Given the description of an element on the screen output the (x, y) to click on. 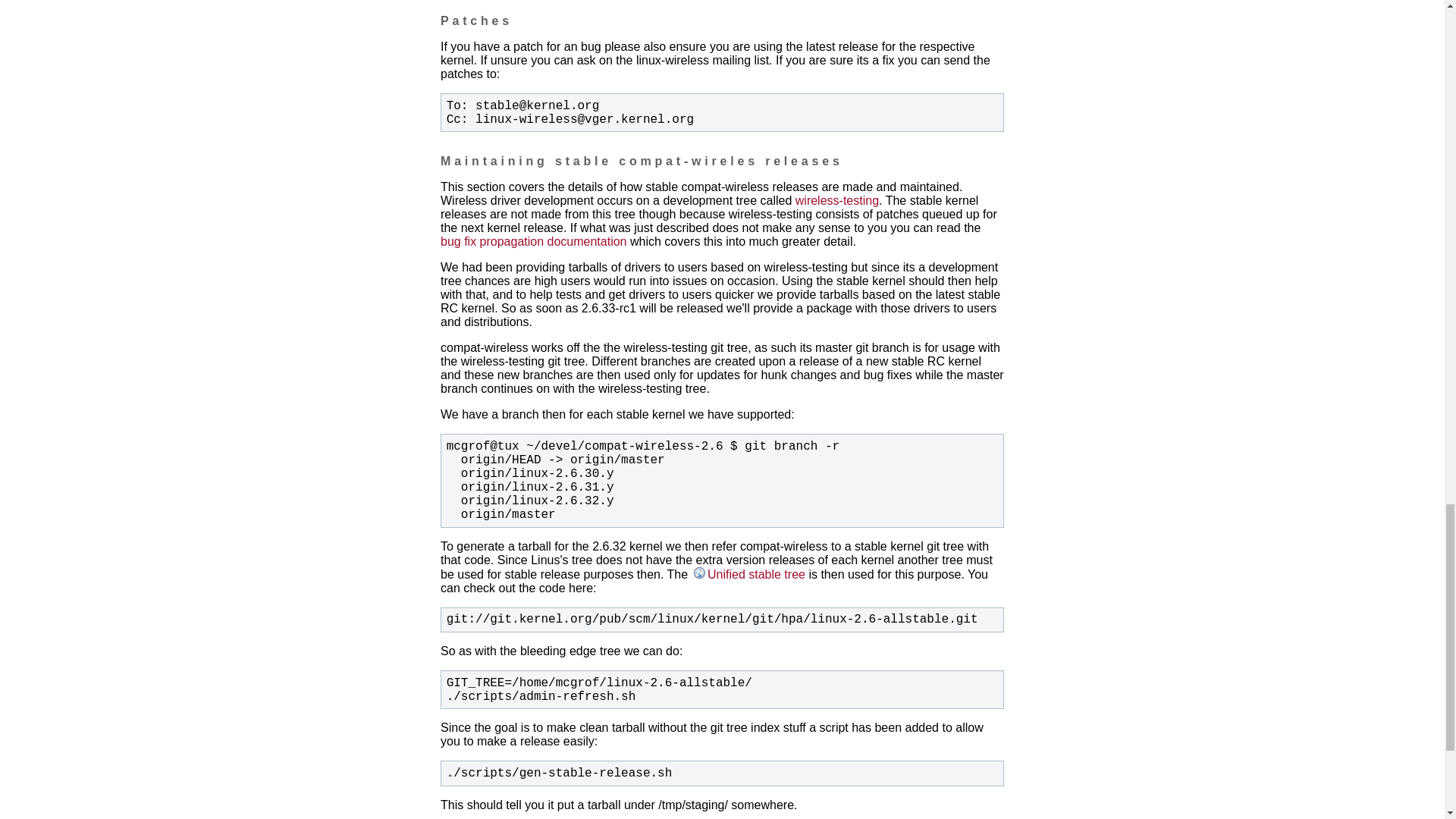
wireless-testing (836, 200)
bug fix propagation documentation (534, 241)
Unified stable tree (748, 574)
